Given the description of an element on the screen output the (x, y) to click on. 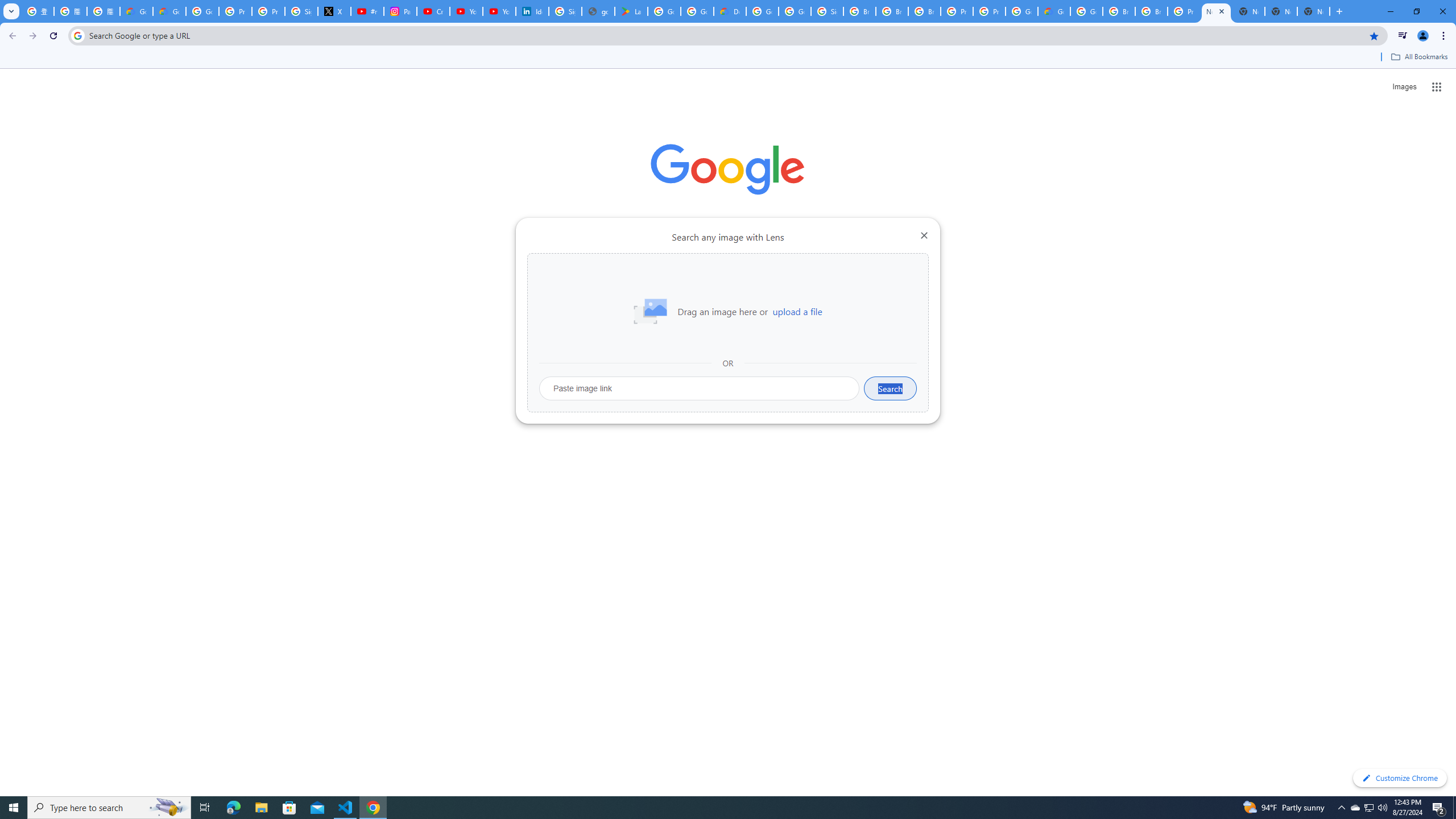
New Tab (1313, 11)
Sign in - Google Accounts (301, 11)
Google Cloud Privacy Notice (136, 11)
#nbabasketballhighlights - YouTube (367, 11)
